Given the description of an element on the screen output the (x, y) to click on. 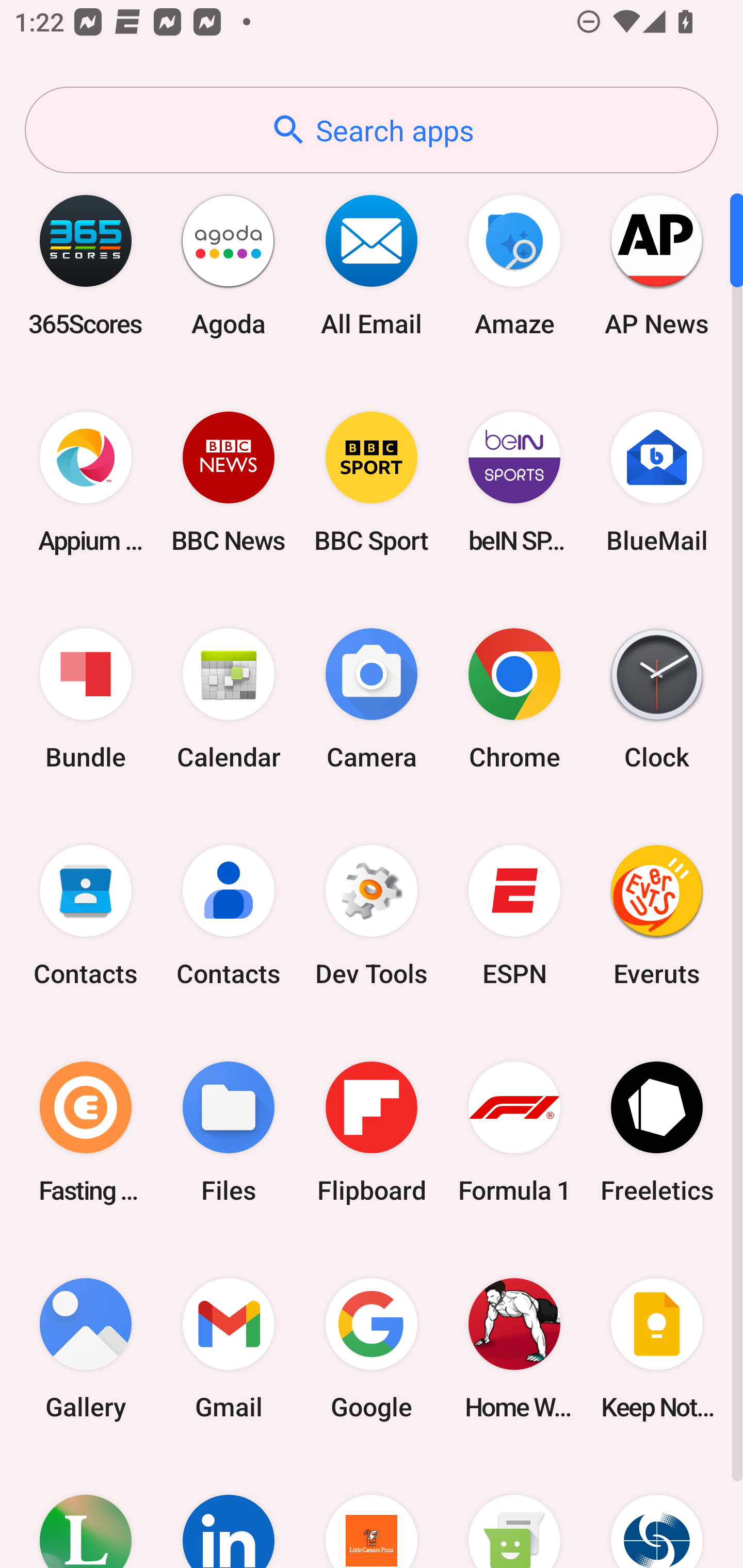
  Search apps (371, 130)
365Scores (85, 264)
Agoda (228, 264)
All Email (371, 264)
Amaze (514, 264)
AP News (656, 264)
Appium Settings (85, 482)
BBC News (228, 482)
BBC Sport (371, 482)
beIN SPORTS (514, 482)
BlueMail (656, 482)
Bundle (85, 699)
Calendar (228, 699)
Camera (371, 699)
Chrome (514, 699)
Clock (656, 699)
Contacts (85, 915)
Contacts (228, 915)
Dev Tools (371, 915)
ESPN (514, 915)
Everuts (656, 915)
Fasting Coach (85, 1131)
Files (228, 1131)
Flipboard (371, 1131)
Formula 1 (514, 1131)
Freeletics (656, 1131)
Gallery (85, 1348)
Gmail (228, 1348)
Google (371, 1348)
Home Workout (514, 1348)
Keep Notes (656, 1348)
